Given the description of an element on the screen output the (x, y) to click on. 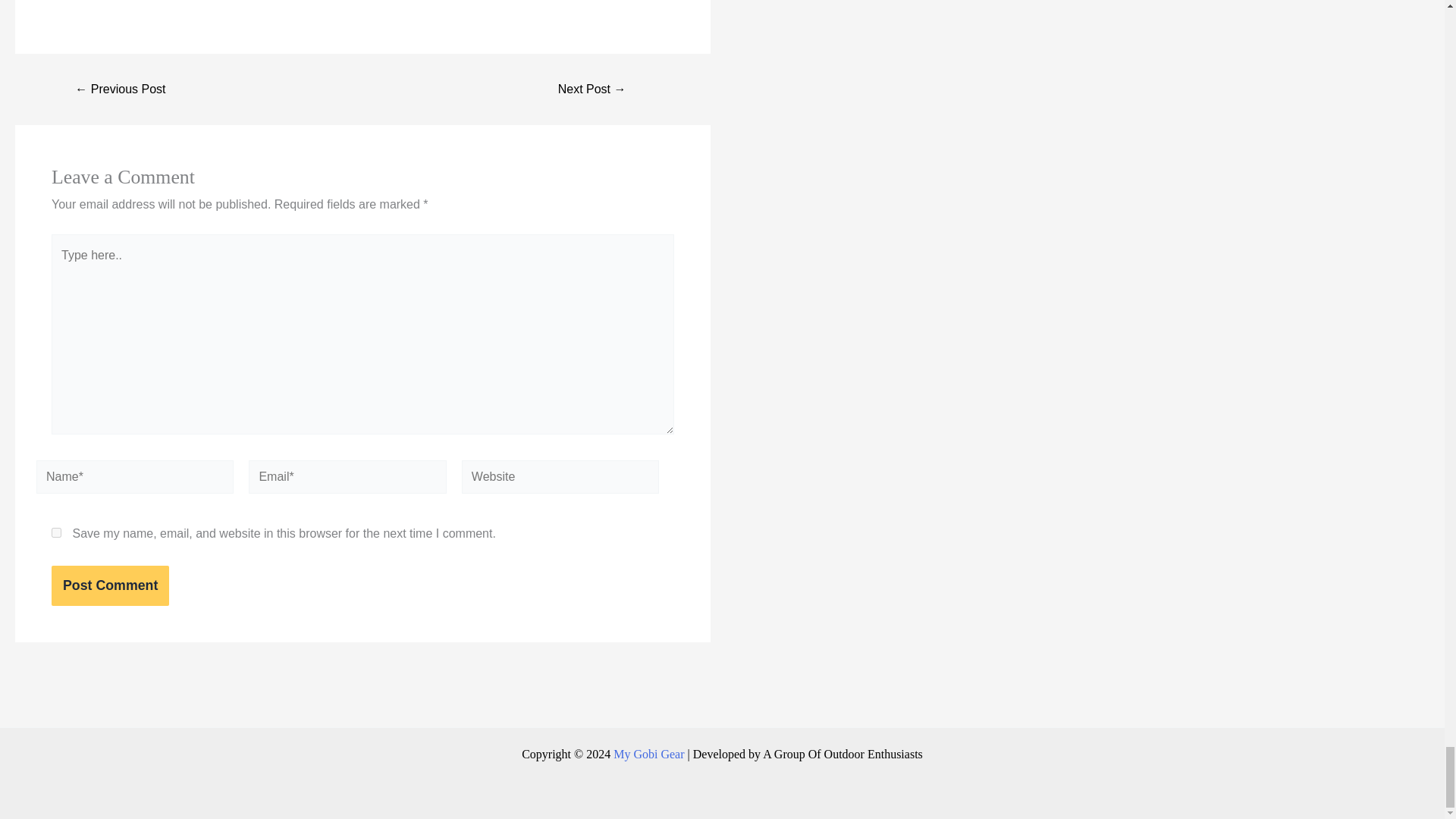
Post Comment (109, 585)
yes (55, 532)
